Given the description of an element on the screen output the (x, y) to click on. 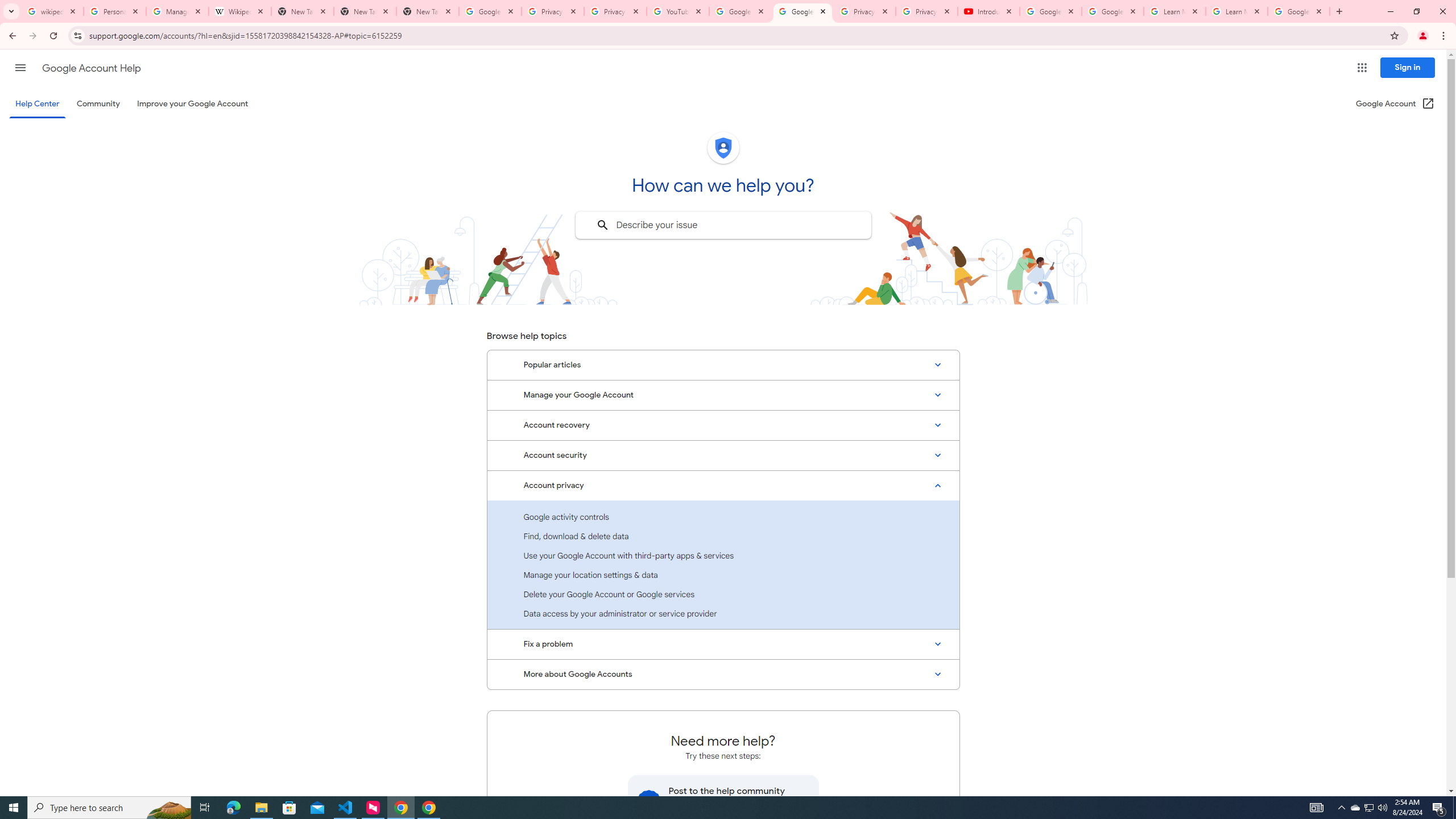
Fix a problem (722, 644)
Introduction | Google Privacy Policy - YouTube (988, 11)
Google Drive: Sign-in (490, 11)
Help Center (36, 103)
Google Account Help (802, 11)
Google activity controls (722, 516)
Describe your issue to find information that might help you. (722, 225)
Google Account Help (1050, 11)
